Given the description of an element on the screen output the (x, y) to click on. 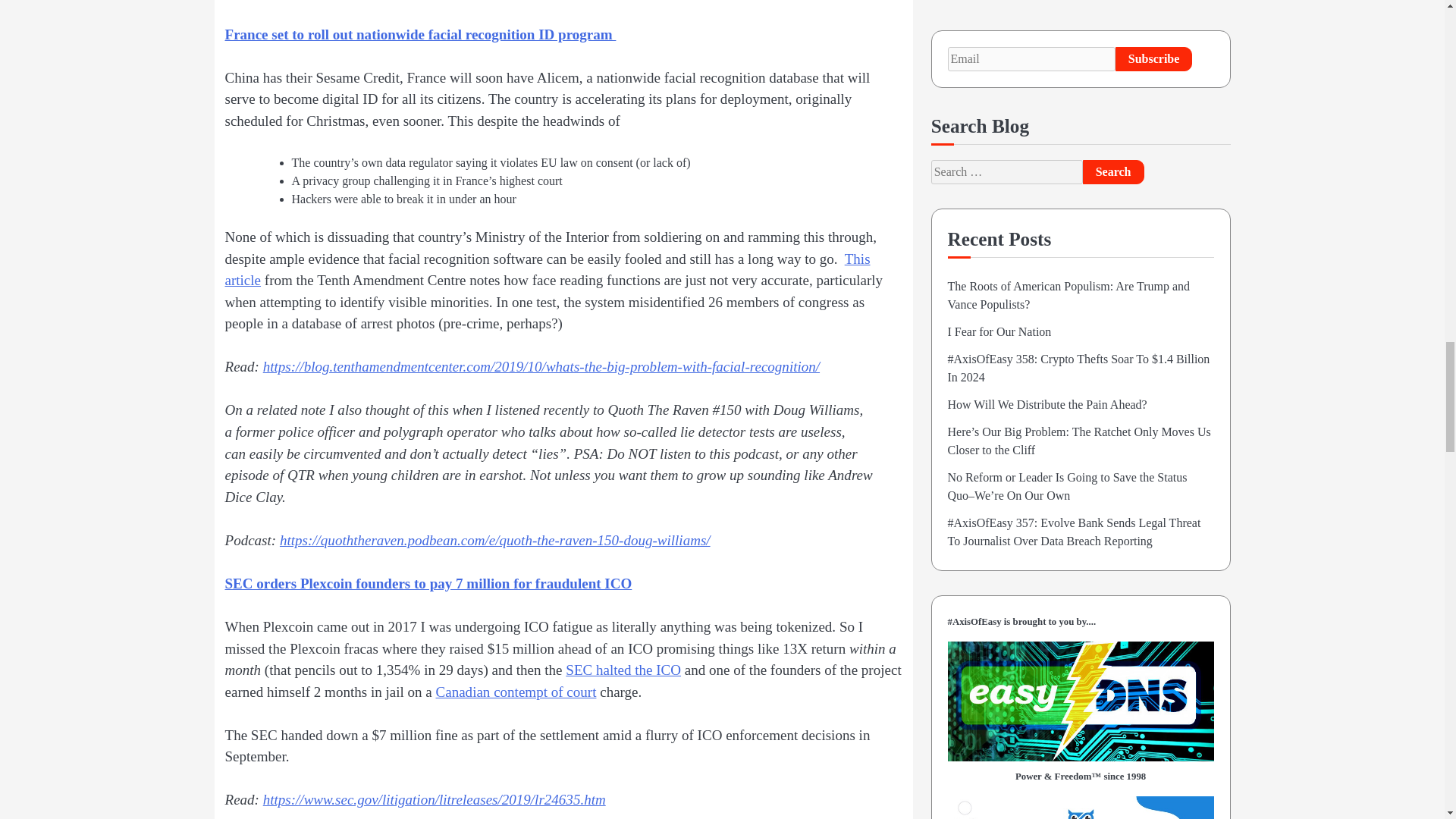
Canadian contempt of court (515, 691)
This article (546, 269)
SEC halted the ICO (623, 669)
